Given the description of an element on the screen output the (x, y) to click on. 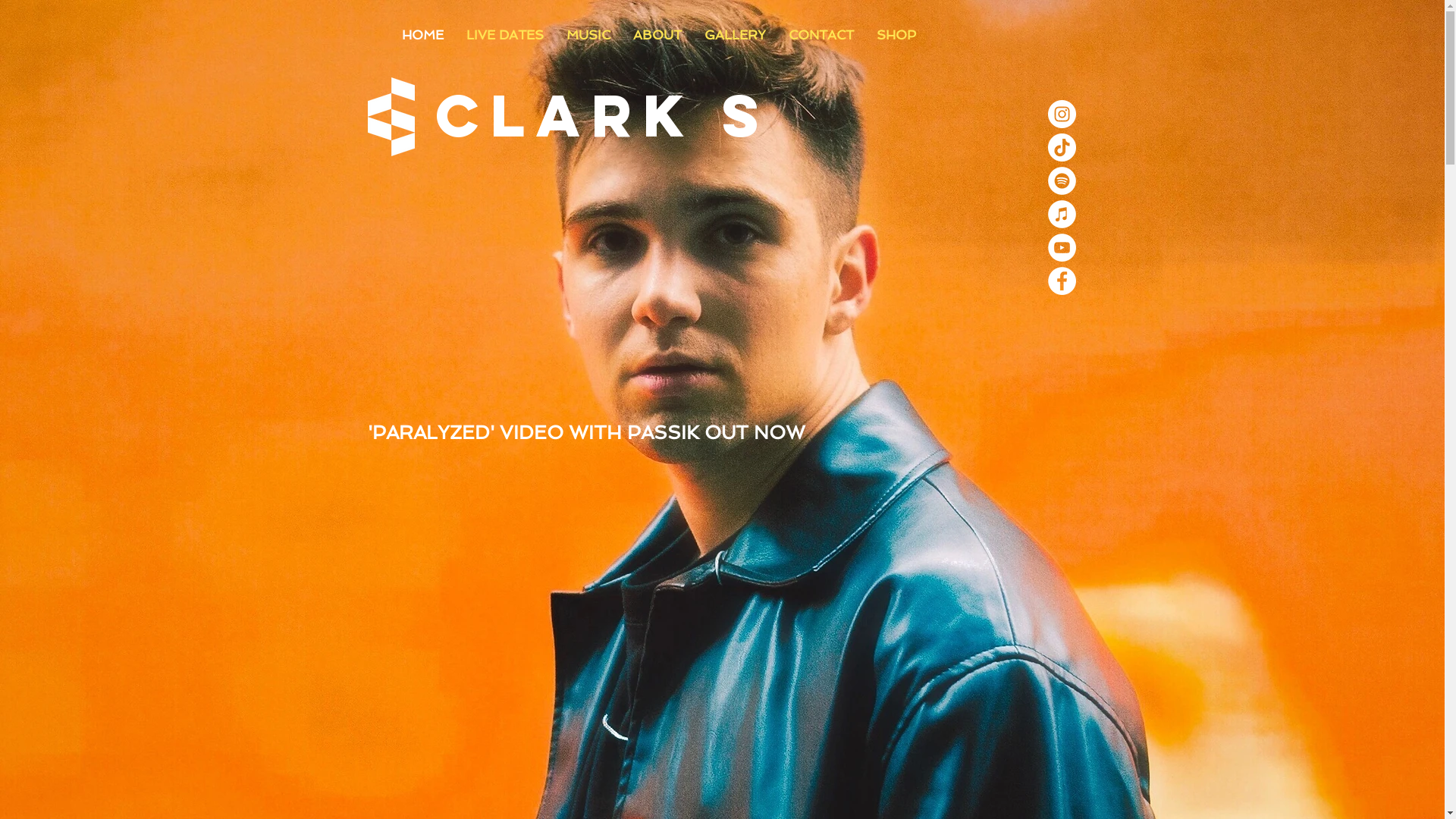
HOME Element type: text (421, 35)
GALLERY Element type: text (735, 35)
LIVE DATES Element type: text (505, 35)
ABOUT Element type: text (657, 35)
SHOP Element type: text (895, 35)
MUSIC Element type: text (588, 35)
CONTACT Element type: text (820, 35)
